Given the description of an element on the screen output the (x, y) to click on. 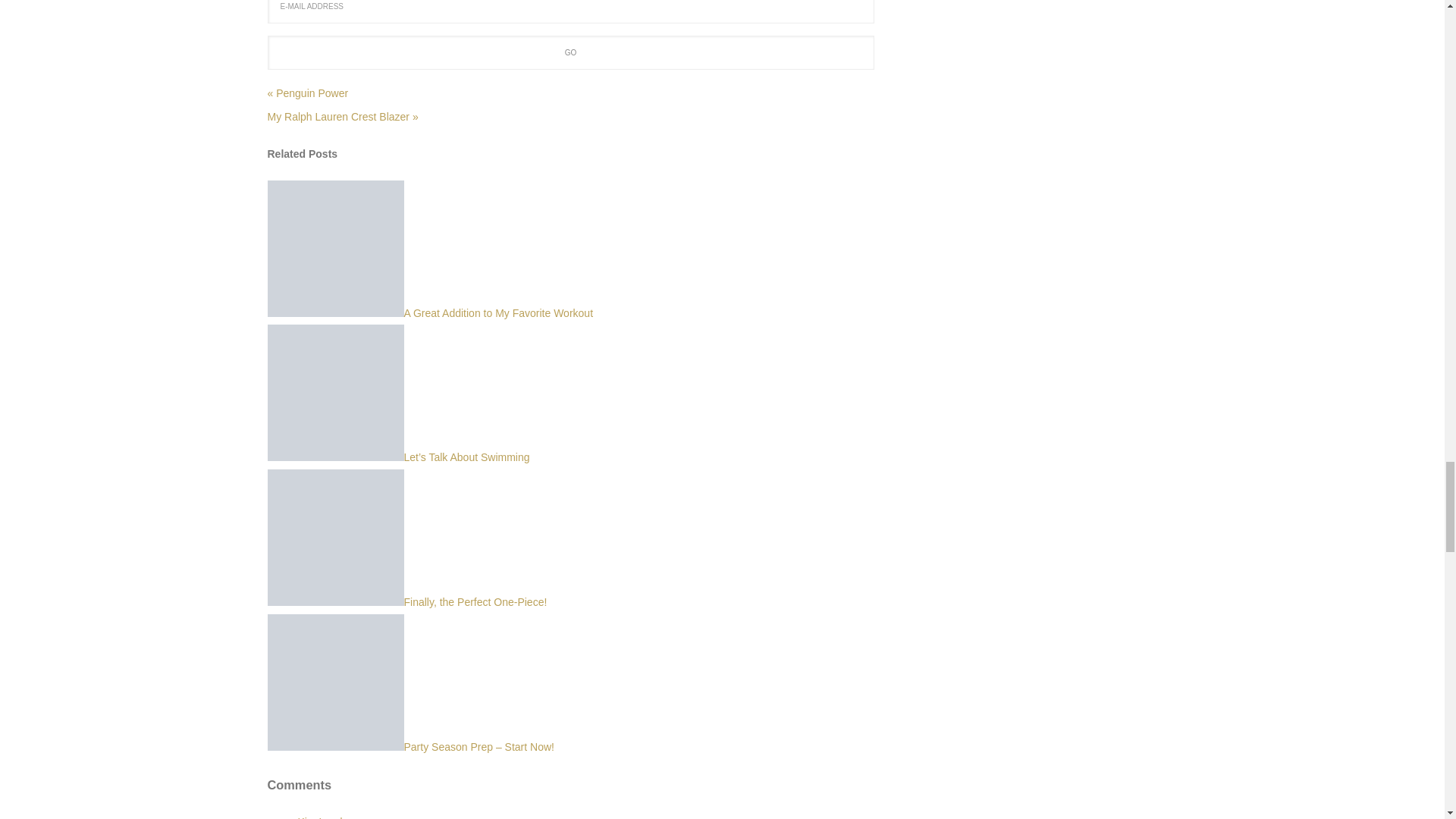
Finally, the Perfect One-Piece! (406, 602)
Go (569, 52)
A Great Addition to My Favorite Workout (429, 313)
